Given the description of an element on the screen output the (x, y) to click on. 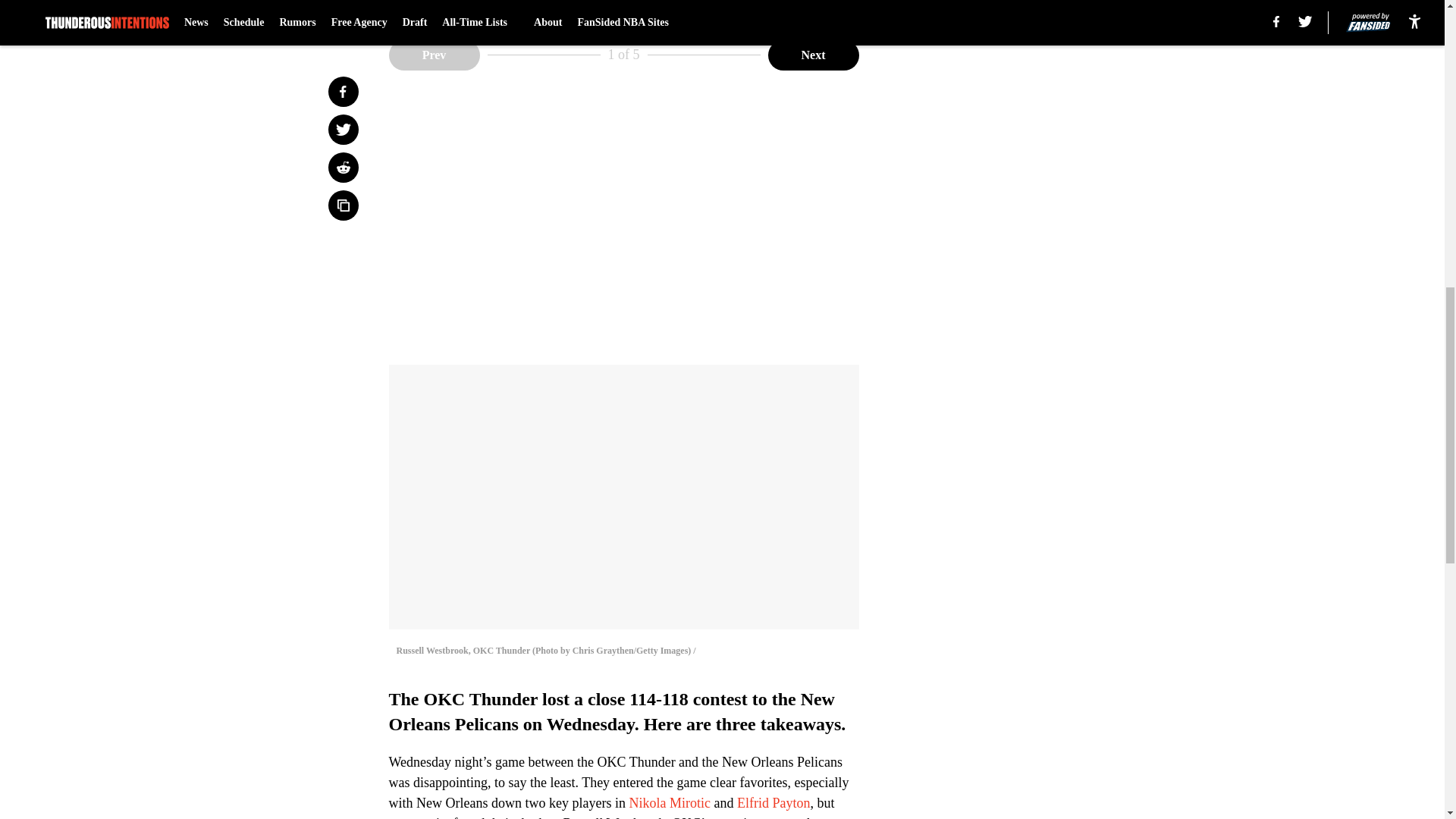
Nikola Mirotic (669, 802)
Prev (433, 54)
Next (813, 54)
Elfrid Payton (773, 802)
